Given the description of an element on the screen output the (x, y) to click on. 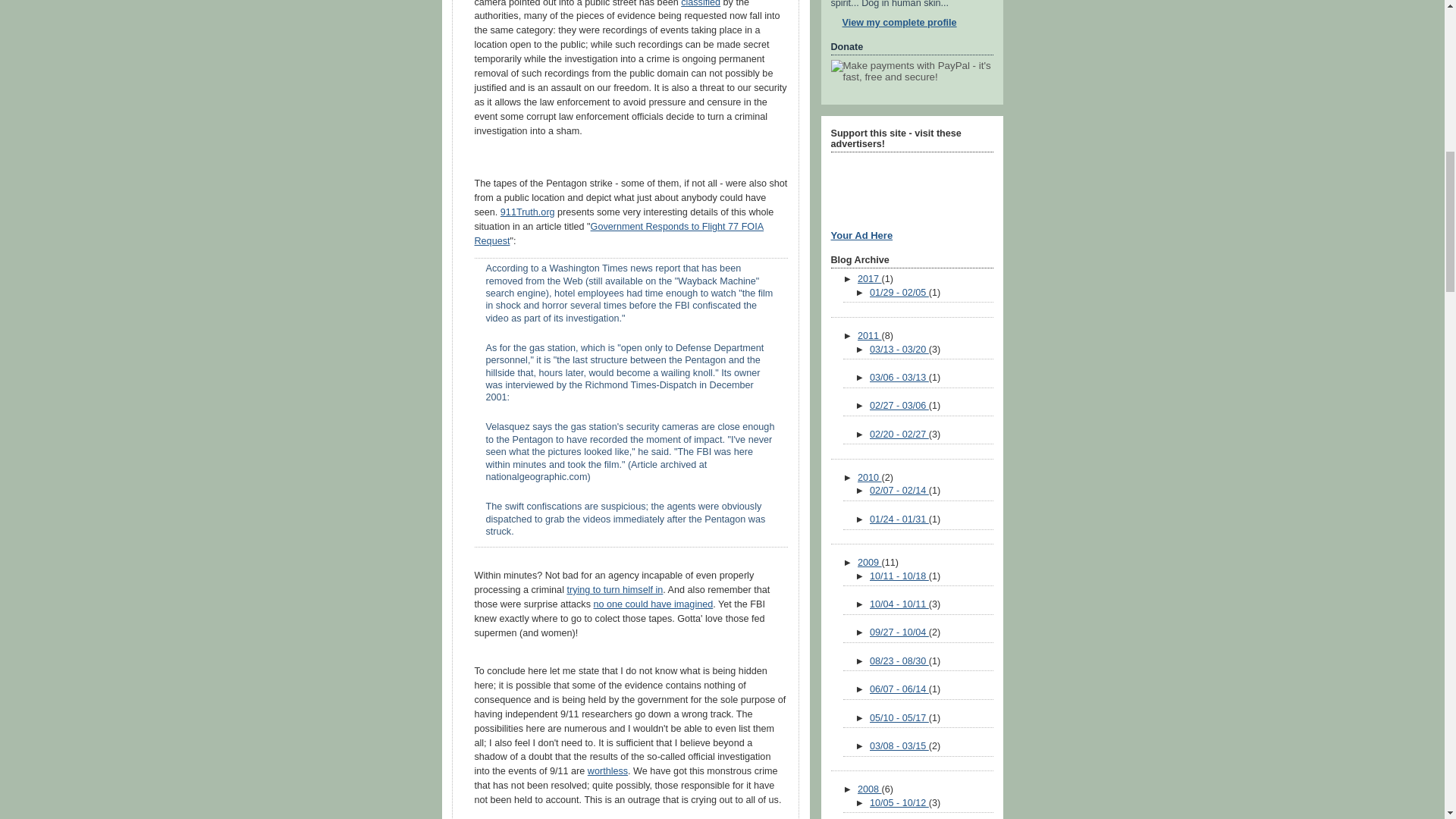
trying to turn himself in (614, 589)
Government Responds to Flight 77 FOIA Request (619, 233)
no one could have imagined (652, 603)
classified (700, 3)
911Truth.org (527, 212)
worthless (607, 770)
